Given the description of an element on the screen output the (x, y) to click on. 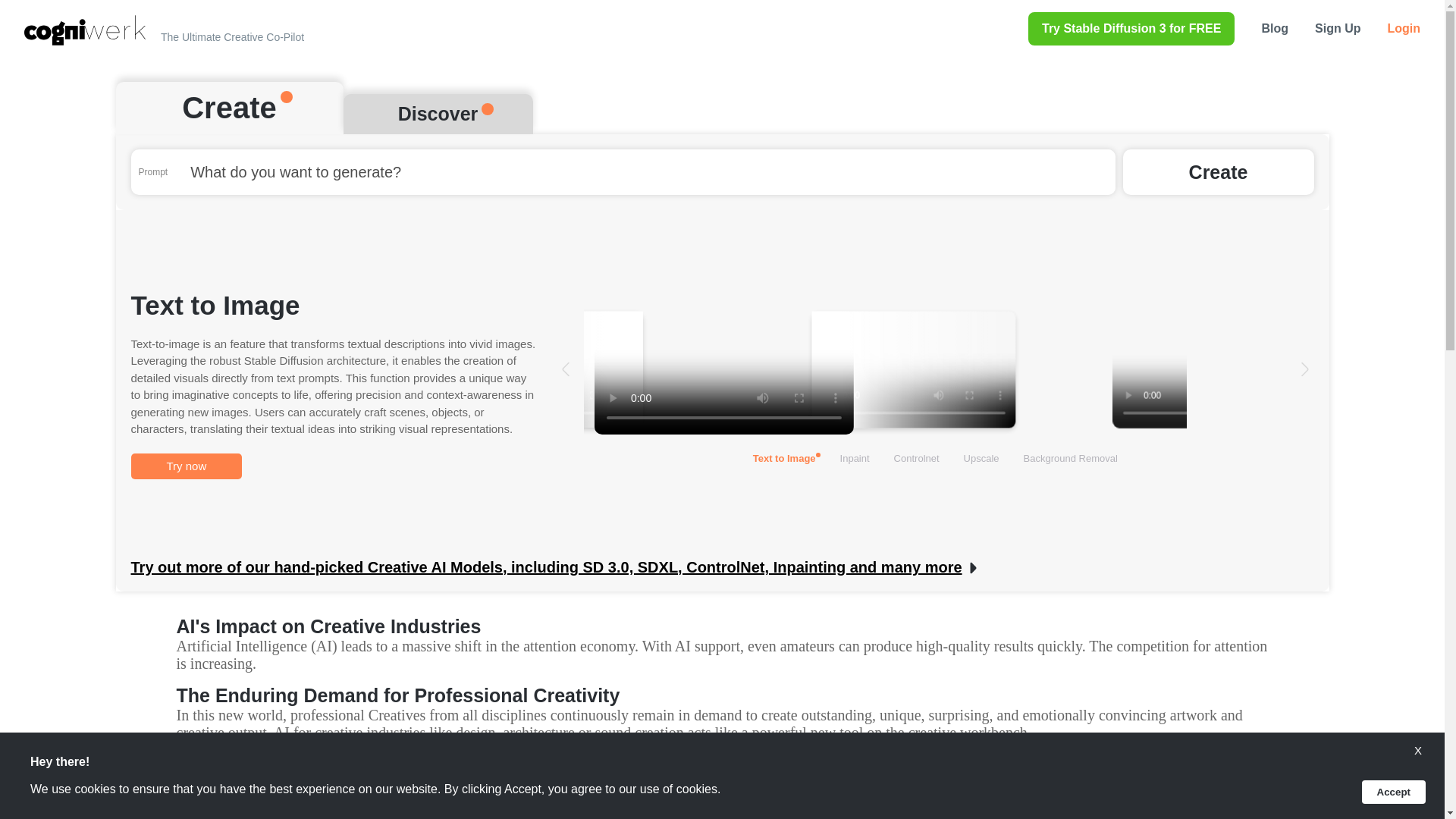
Try now (186, 466)
Sign Up (1336, 28)
Create (1217, 171)
Start creating now (249, 814)
Blog (1274, 28)
Try Stable Diffusion 3 for FREE (1130, 28)
Discover (437, 114)
Login (1404, 28)
Create (228, 107)
